Given the description of an element on the screen output the (x, y) to click on. 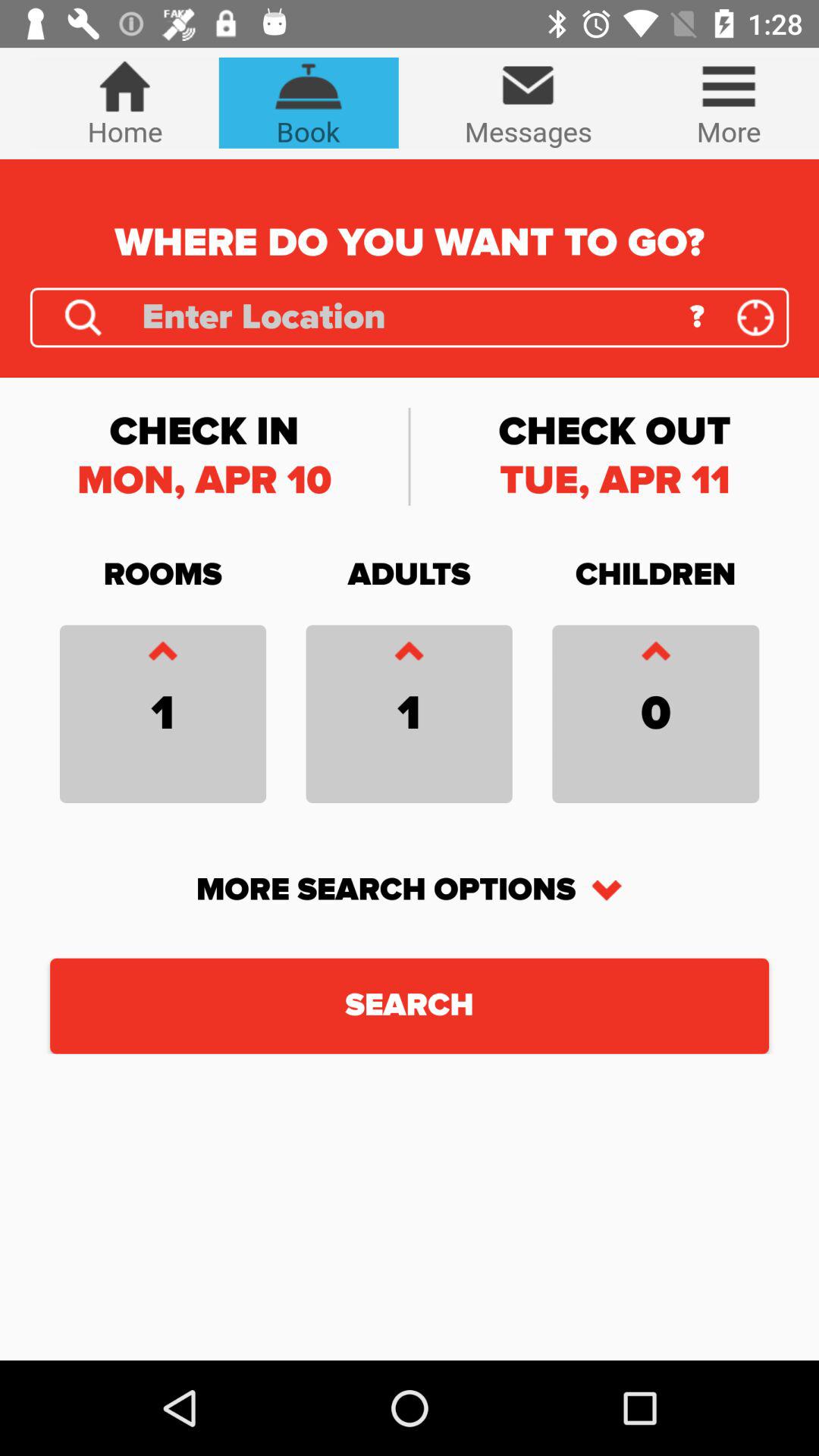
tab up or count up button (655, 654)
